Given the description of an element on the screen output the (x, y) to click on. 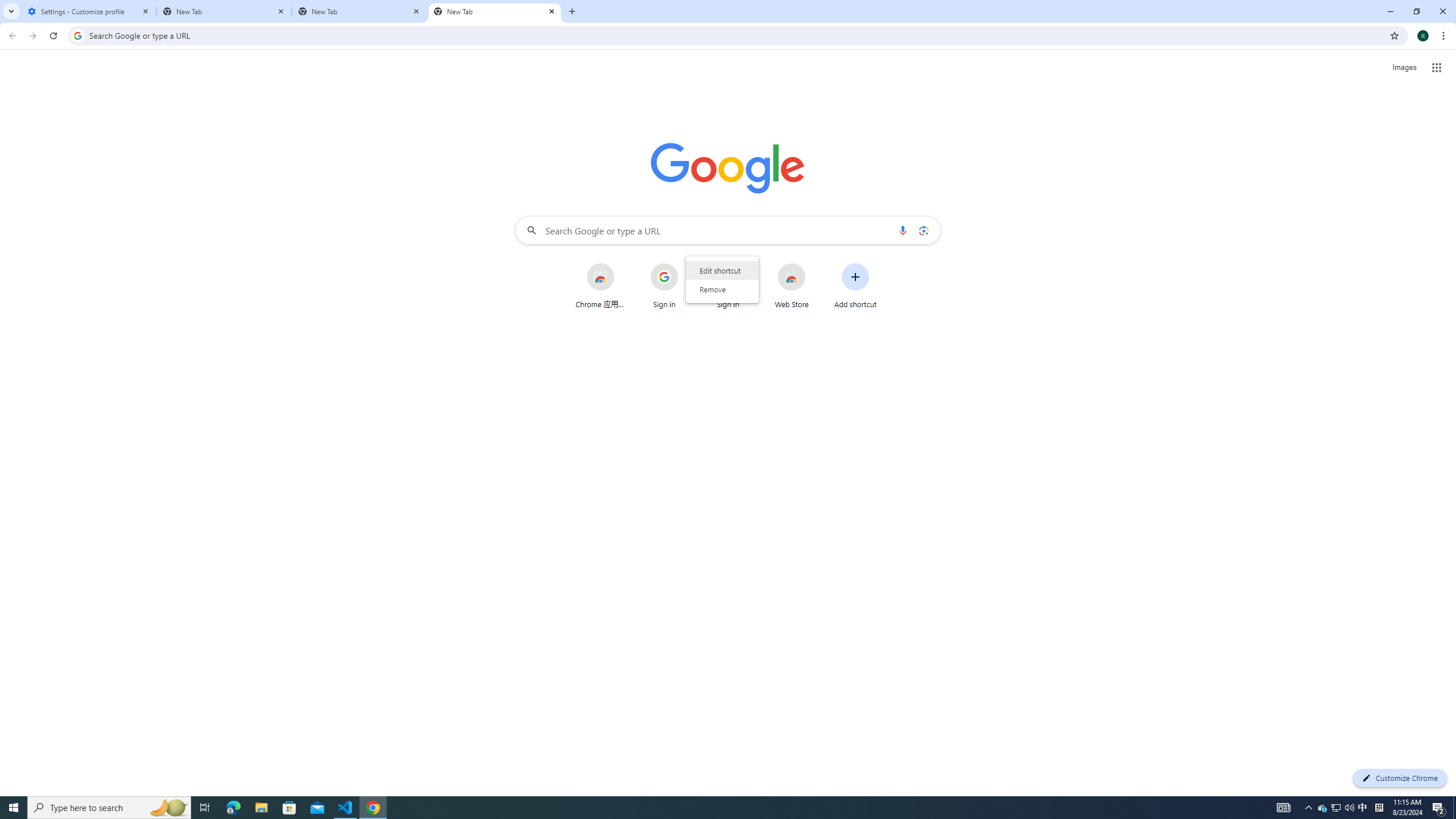
Remove (721, 289)
New Tab (224, 11)
New Tab (359, 11)
Settings - Customize profile (88, 11)
AutomationID: wrapper (721, 279)
Edit shortcut (721, 270)
